Given the description of an element on the screen output the (x, y) to click on. 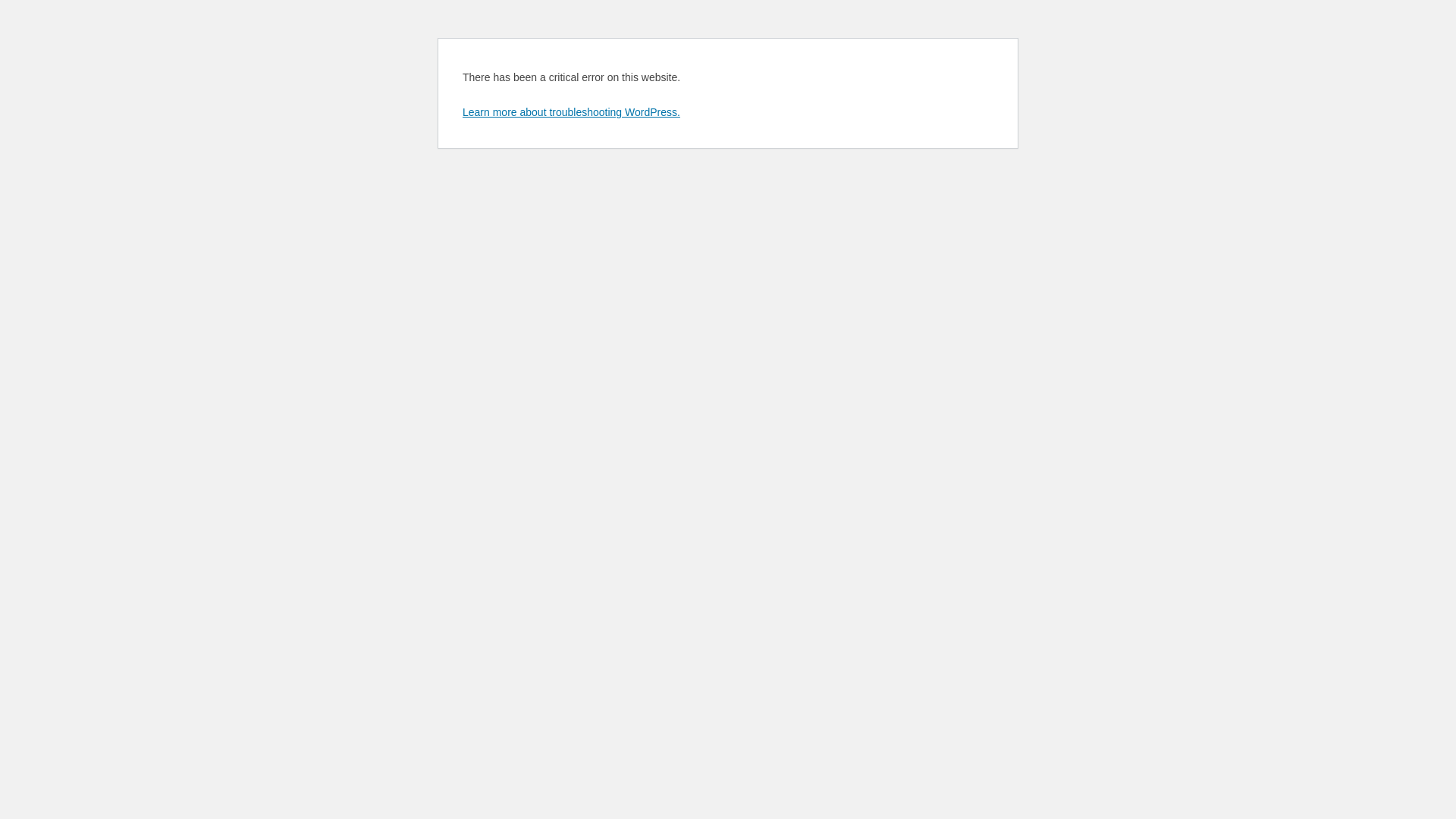
Learn more about troubleshooting WordPress. Element type: text (571, 112)
